Given the description of an element on the screen output the (x, y) to click on. 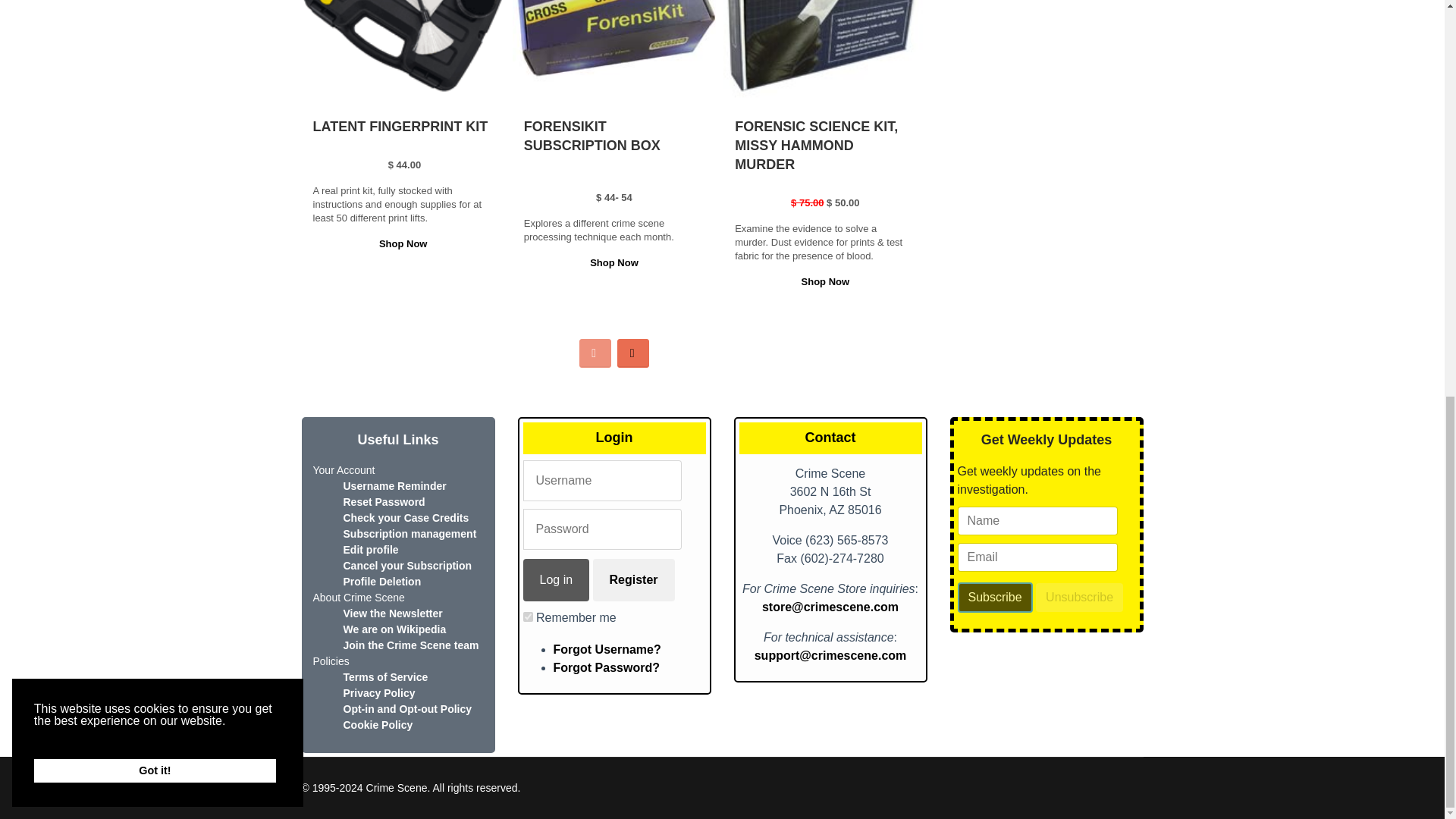
Subscribe (994, 597)
yes (527, 616)
Got it! (154, 7)
Unsubscribe (1078, 597)
